Given the description of an element on the screen output the (x, y) to click on. 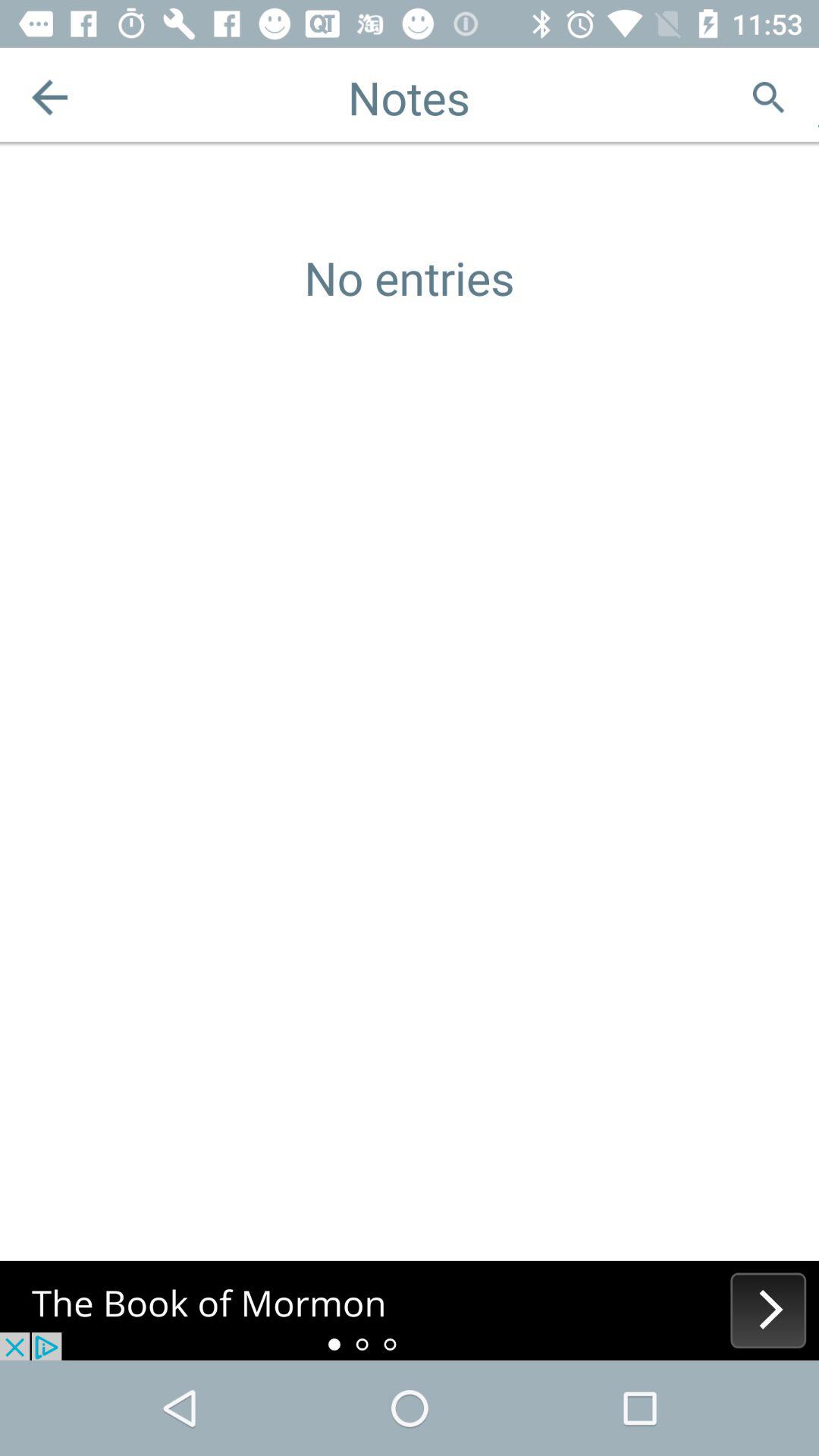
go to previous page (49, 97)
